Given the description of an element on the screen output the (x, y) to click on. 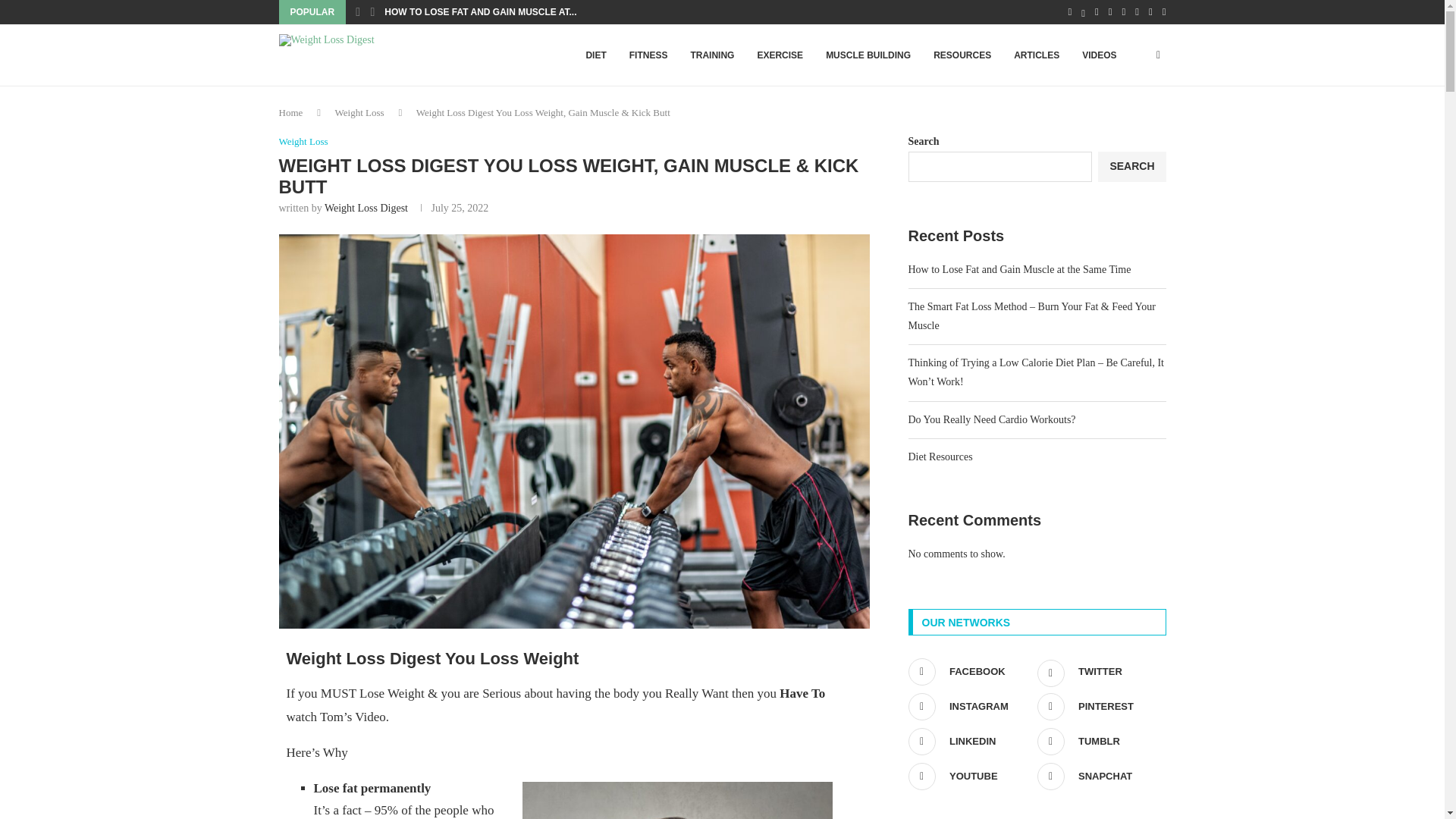
HOW TO LOSE FAT AND GAIN MUSCLE AT... (480, 12)
MUSCLE BUILDING (868, 55)
RESOURCES (962, 55)
Weight Loss Digest (365, 207)
Weight Loss (304, 141)
Home (290, 112)
Weight Loss (359, 112)
